Given the description of an element on the screen output the (x, y) to click on. 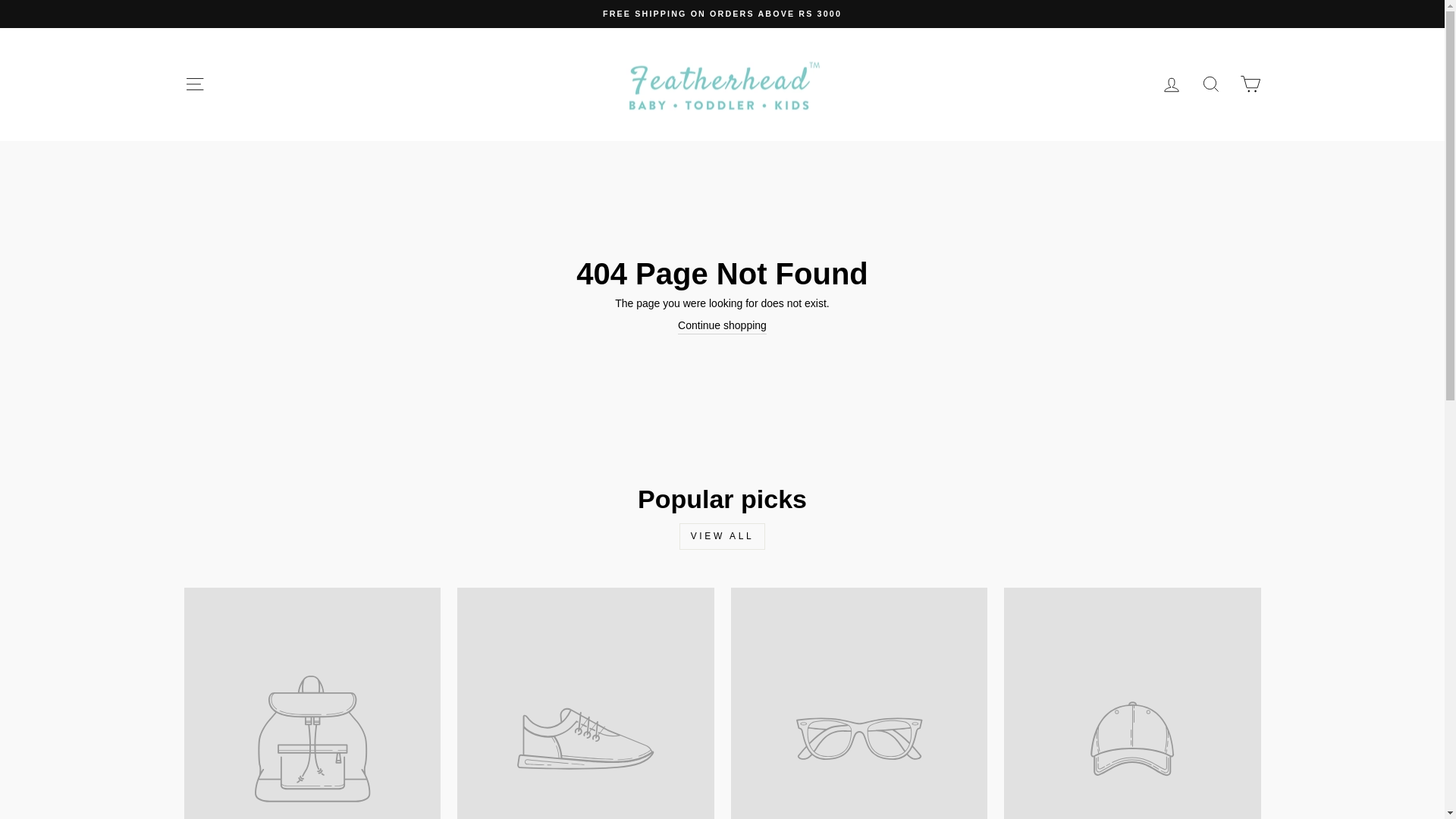
ICON-SEARCH (1210, 84)
ICON-HAMBURGER (194, 84)
ACCOUNT (1170, 84)
